Given the description of an element on the screen output the (x, y) to click on. 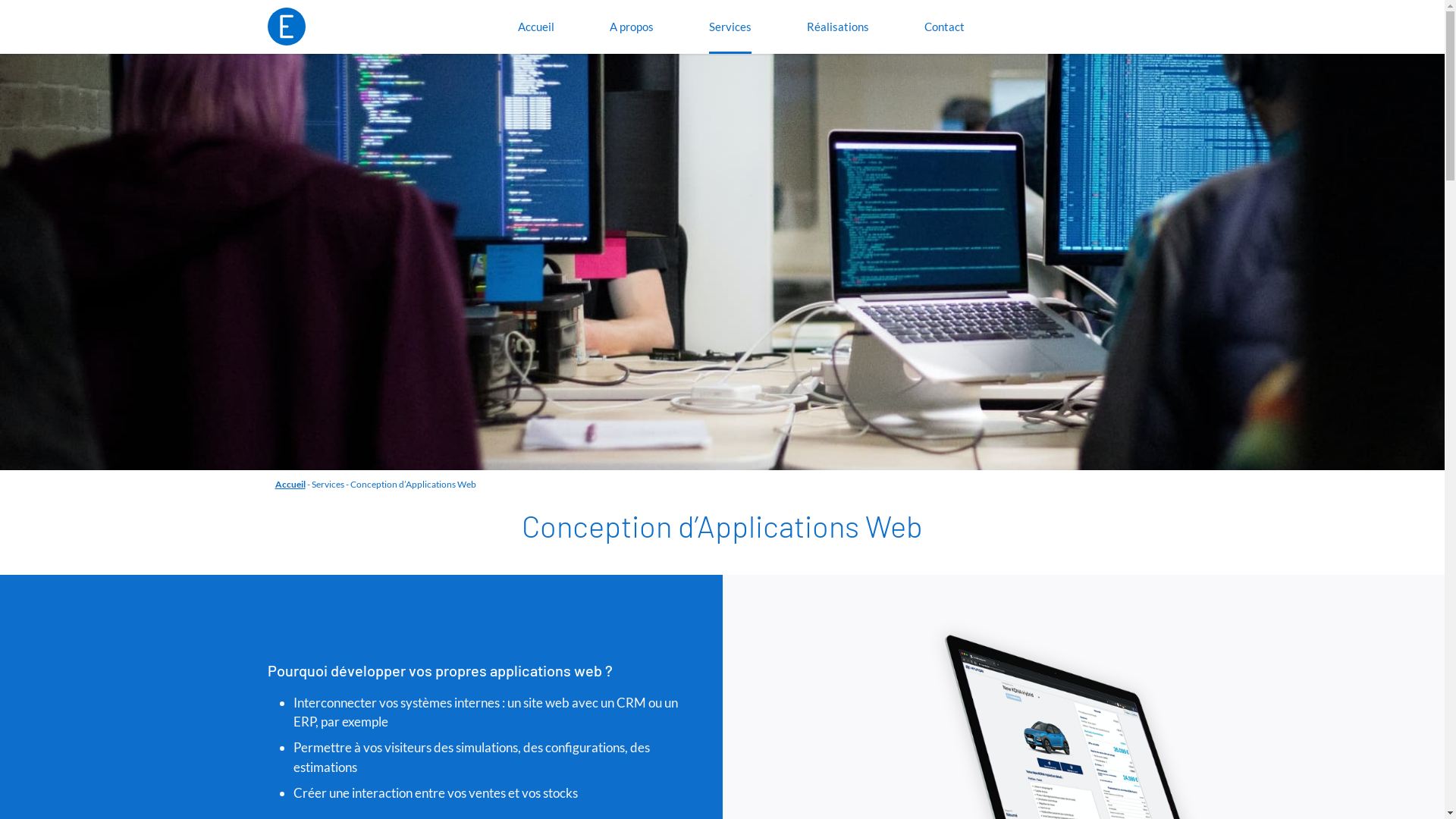
Accueil Element type: text (535, 26)
Services Element type: text (730, 26)
A propos Element type: text (631, 26)
Accueil Element type: text (289, 483)
Contact Element type: text (944, 26)
